Given the description of an element on the screen output the (x, y) to click on. 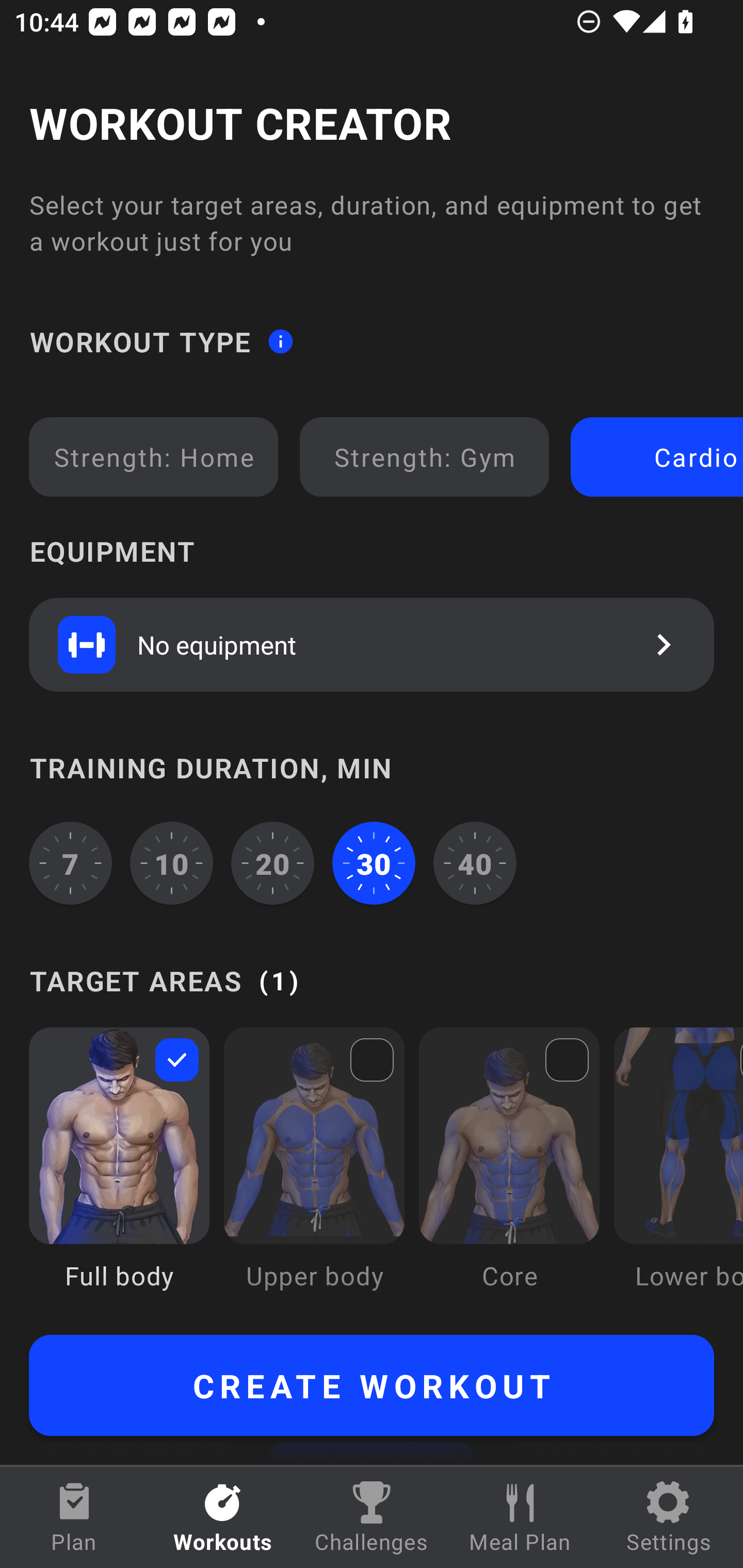
Workout type information button (280, 340)
Strength: Home (153, 457)
Strength: Gym (423, 457)
No equipment (371, 644)
7 (70, 863)
10 (171, 863)
20 (272, 863)
30 (373, 863)
40 (474, 863)
Upper body (313, 1172)
Core (509, 1172)
Lower body (678, 1172)
CREATE WORKOUT (371, 1385)
 Plan  (74, 1517)
 Challenges  (371, 1517)
 Meal Plan  (519, 1517)
 Settings  (668, 1517)
